Given the description of an element on the screen output the (x, y) to click on. 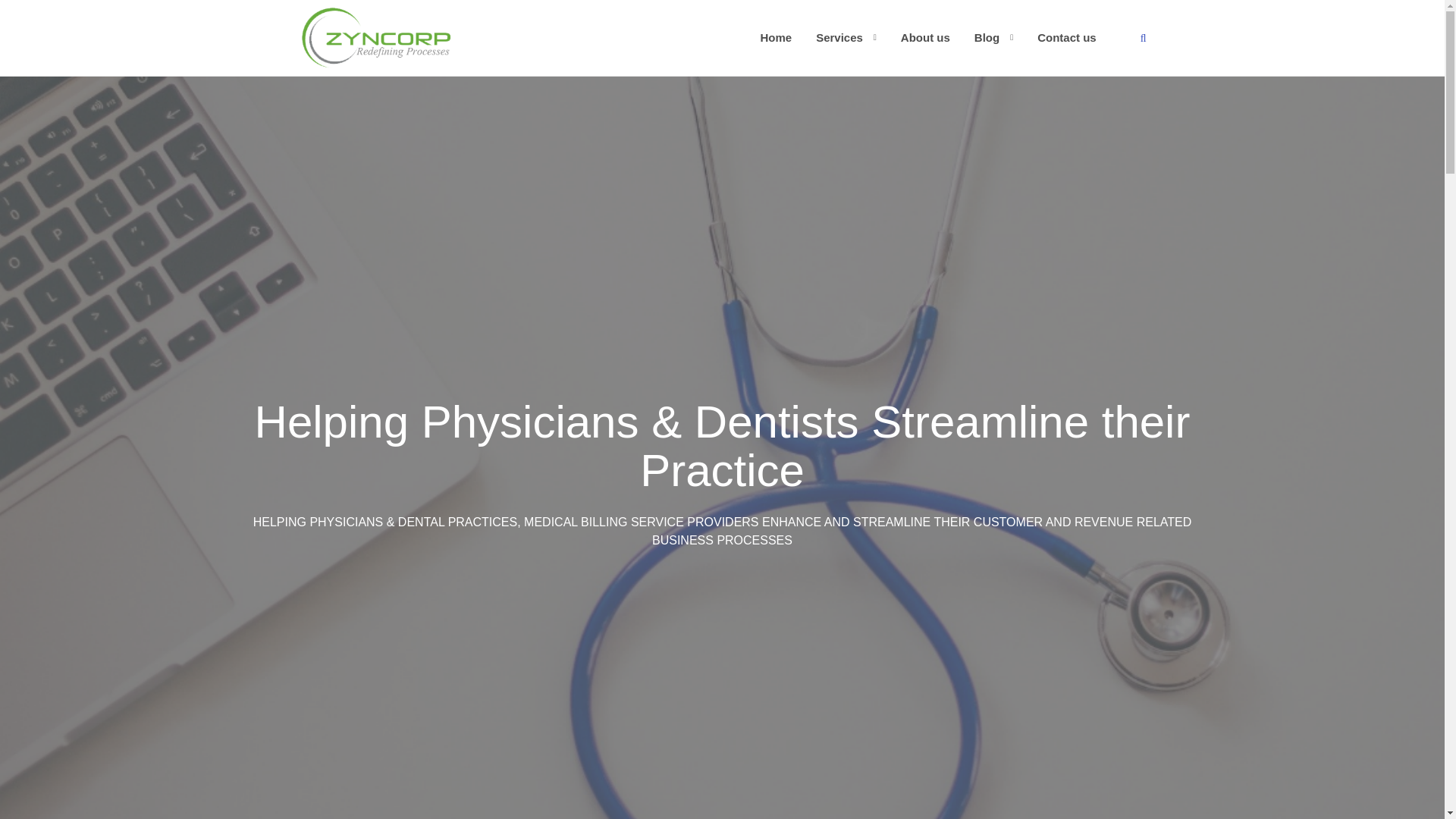
Contact us (1066, 37)
Contact us (1066, 37)
Services (839, 37)
Services (839, 37)
About us (925, 37)
About us (925, 37)
